Given the description of an element on the screen output the (x, y) to click on. 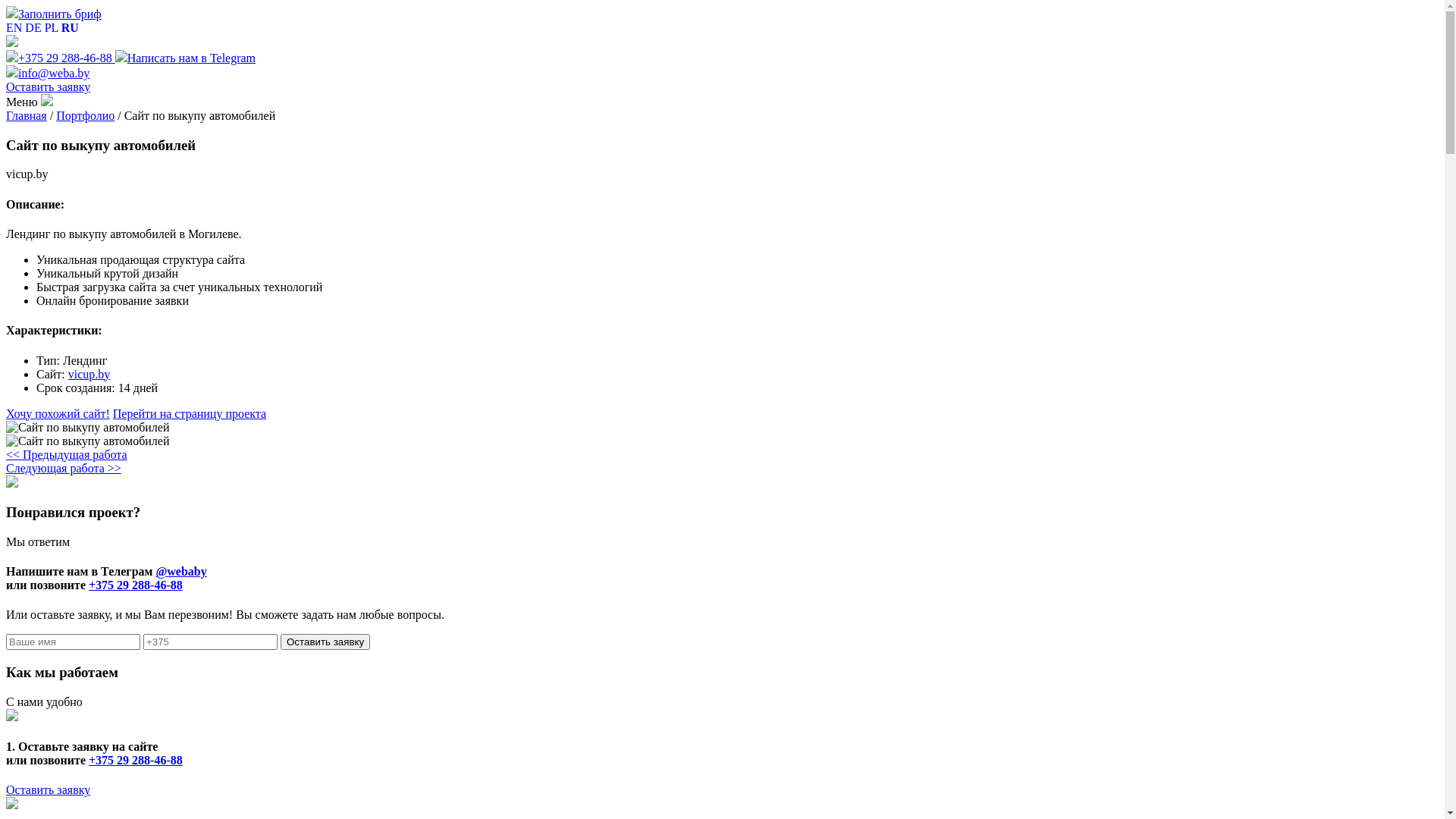
+375 29 288-46-88 Element type: text (60, 57)
DE Element type: text (32, 27)
vicup.by Element type: text (89, 373)
info@weba.by Element type: text (47, 72)
+375 29 288-46-88 Element type: text (135, 759)
PL Element type: text (51, 27)
+375 29 288-46-88 Element type: text (135, 584)
RU Element type: text (69, 27)
@webaby Element type: text (180, 570)
EN Element type: text (13, 27)
